Given the description of an element on the screen output the (x, y) to click on. 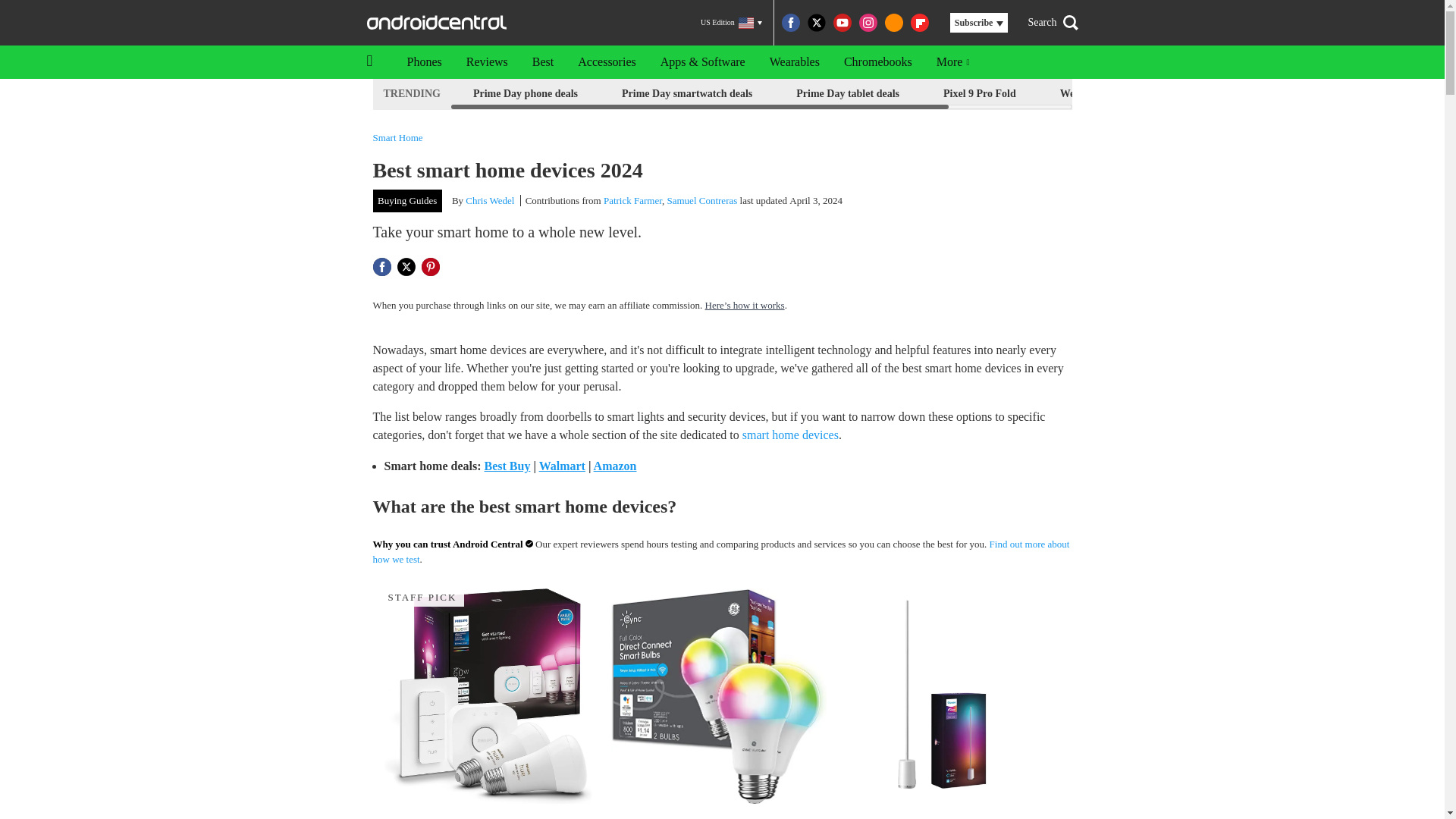
Prime Day smartwatch deals (686, 93)
Reviews (486, 61)
Wearables (794, 61)
Pixel 9 Pro Fold (979, 93)
Phones (423, 61)
Prime Day phone deals (525, 93)
Chromebooks (877, 61)
Accessories (606, 61)
Best (542, 61)
US Edition (731, 22)
Wear OS 5 (1084, 93)
Android 15 (1178, 93)
Prime Day tablet deals (847, 93)
